Given the description of an element on the screen output the (x, y) to click on. 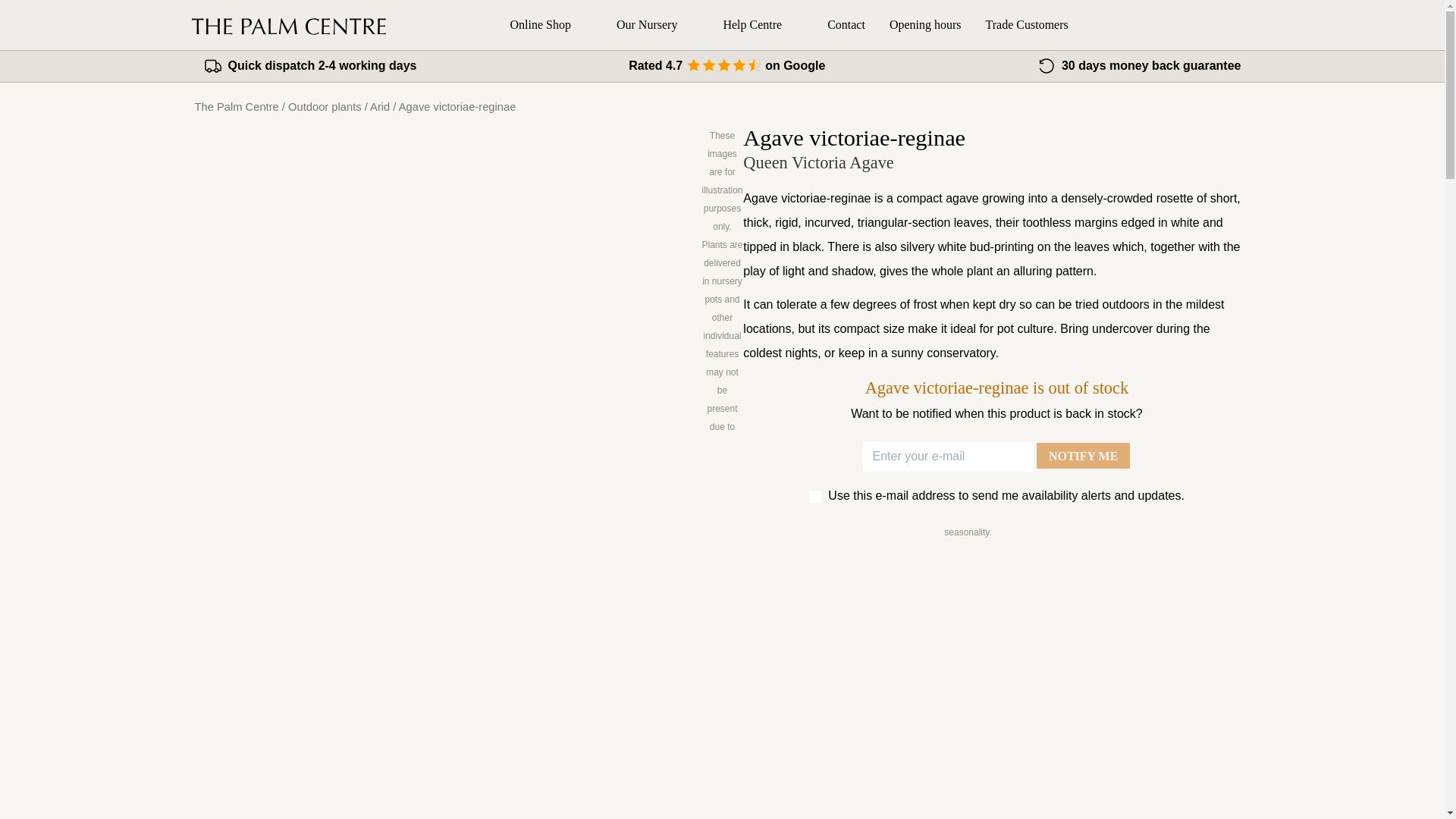
stars4.5 (723, 66)
Online Shop (550, 24)
on (815, 496)
